Given the description of an element on the screen output the (x, y) to click on. 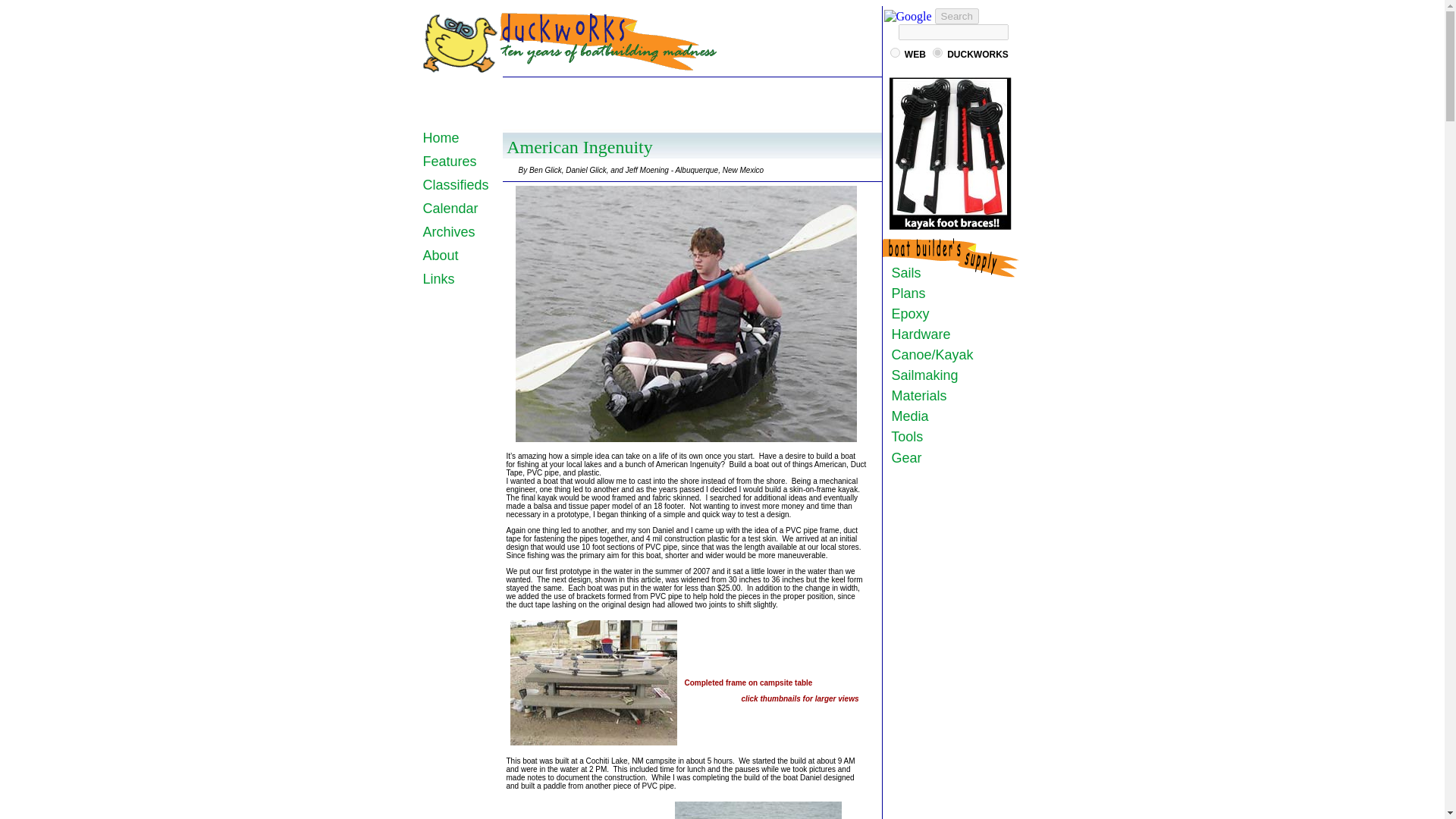
Links (438, 278)
Search (956, 16)
  Tools (903, 436)
Archives (449, 231)
Search the Web (915, 54)
  Hardware (916, 334)
Search (956, 16)
Calendar (451, 208)
  Plans (904, 293)
Features (450, 160)
